Given the description of an element on the screen output the (x, y) to click on. 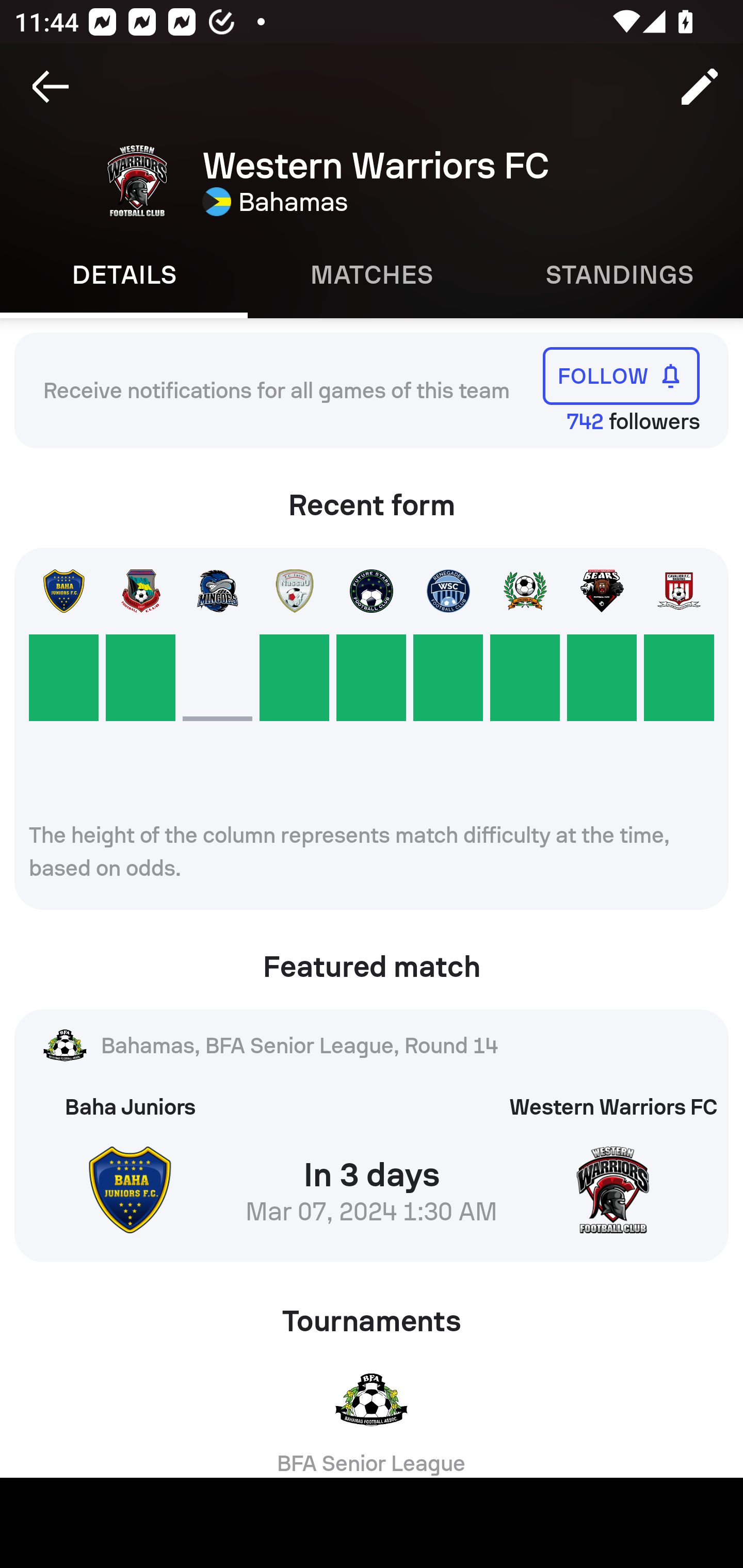
Navigate up (50, 86)
Edit (699, 86)
Matches MATCHES (371, 275)
Standings STANDINGS (619, 275)
FOLLOW (621, 375)
BFA Senior League (371, 1416)
